Given the description of an element on the screen output the (x, y) to click on. 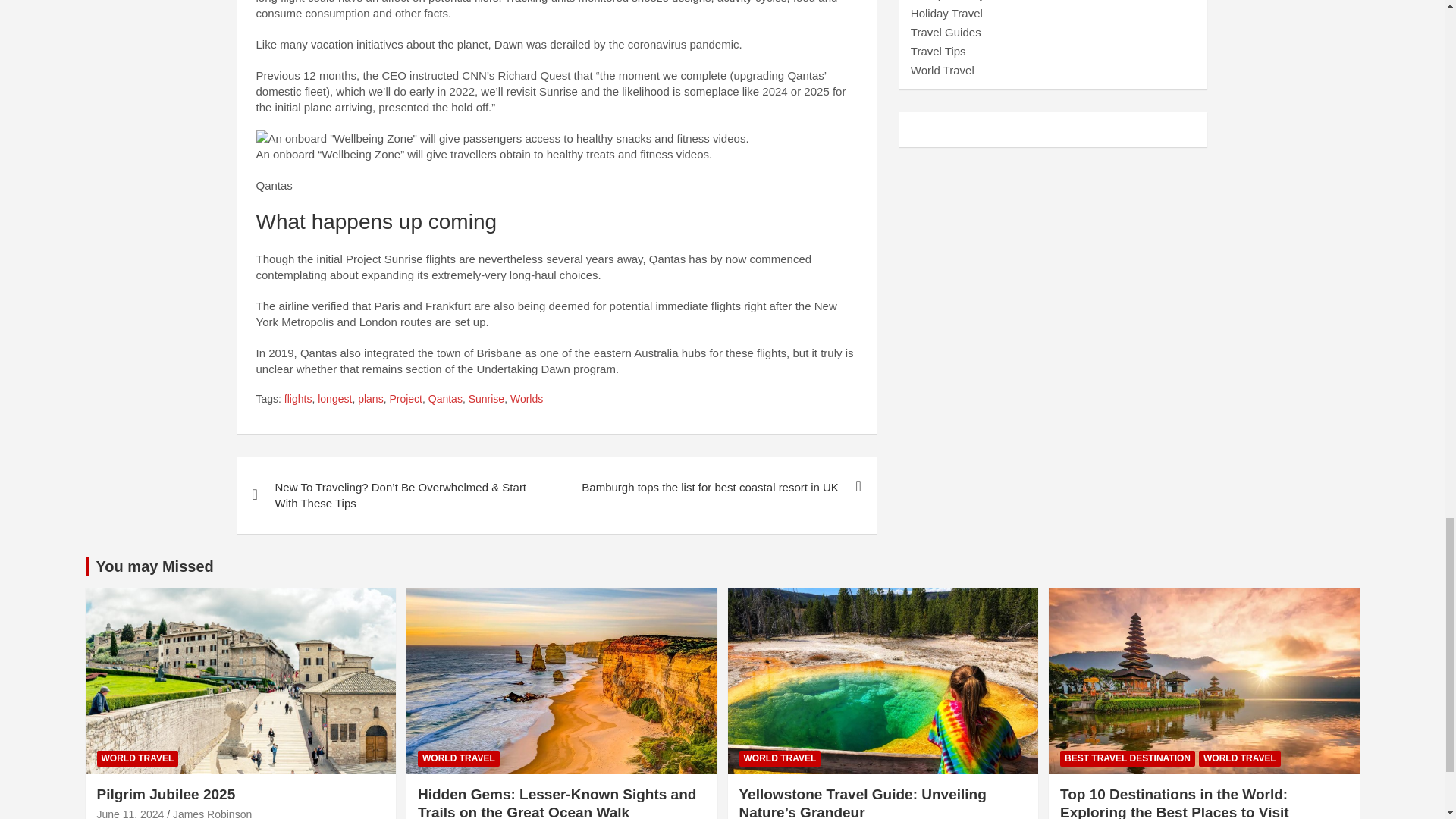
Sunrise (485, 399)
Worlds (527, 399)
Qantas (445, 399)
Bamburgh tops the list for best coastal resort in UK (716, 486)
longest (334, 399)
flights (298, 399)
Pilgrim Jubilee 2025 (130, 813)
plans (370, 399)
Project (405, 399)
